Given the description of an element on the screen output the (x, y) to click on. 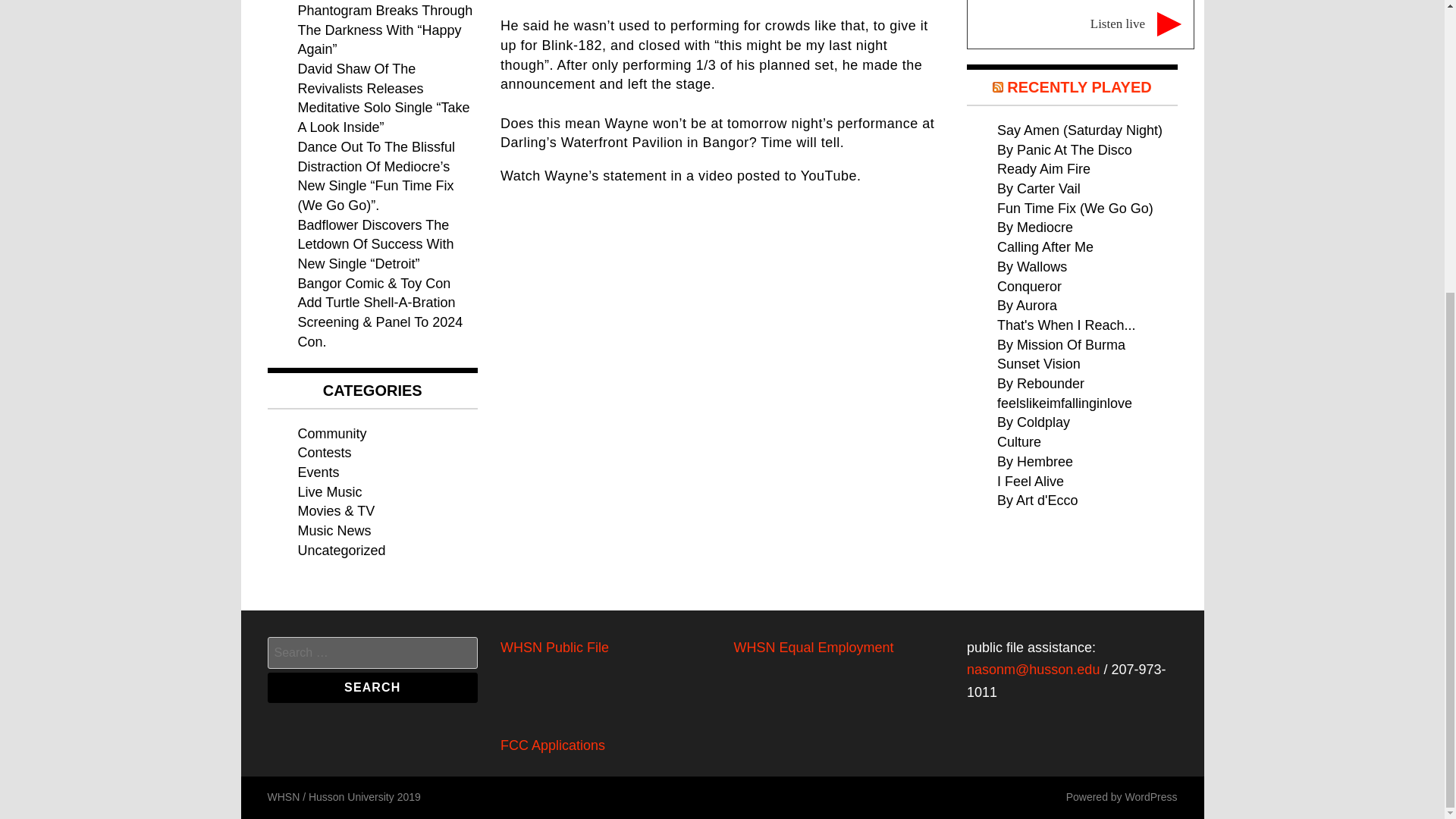
Uncategorized (341, 549)
Music News (334, 530)
Contests (323, 452)
Search (371, 687)
Events (318, 472)
Search (371, 687)
Community (331, 433)
Live Music (329, 491)
